Given the description of an element on the screen output the (x, y) to click on. 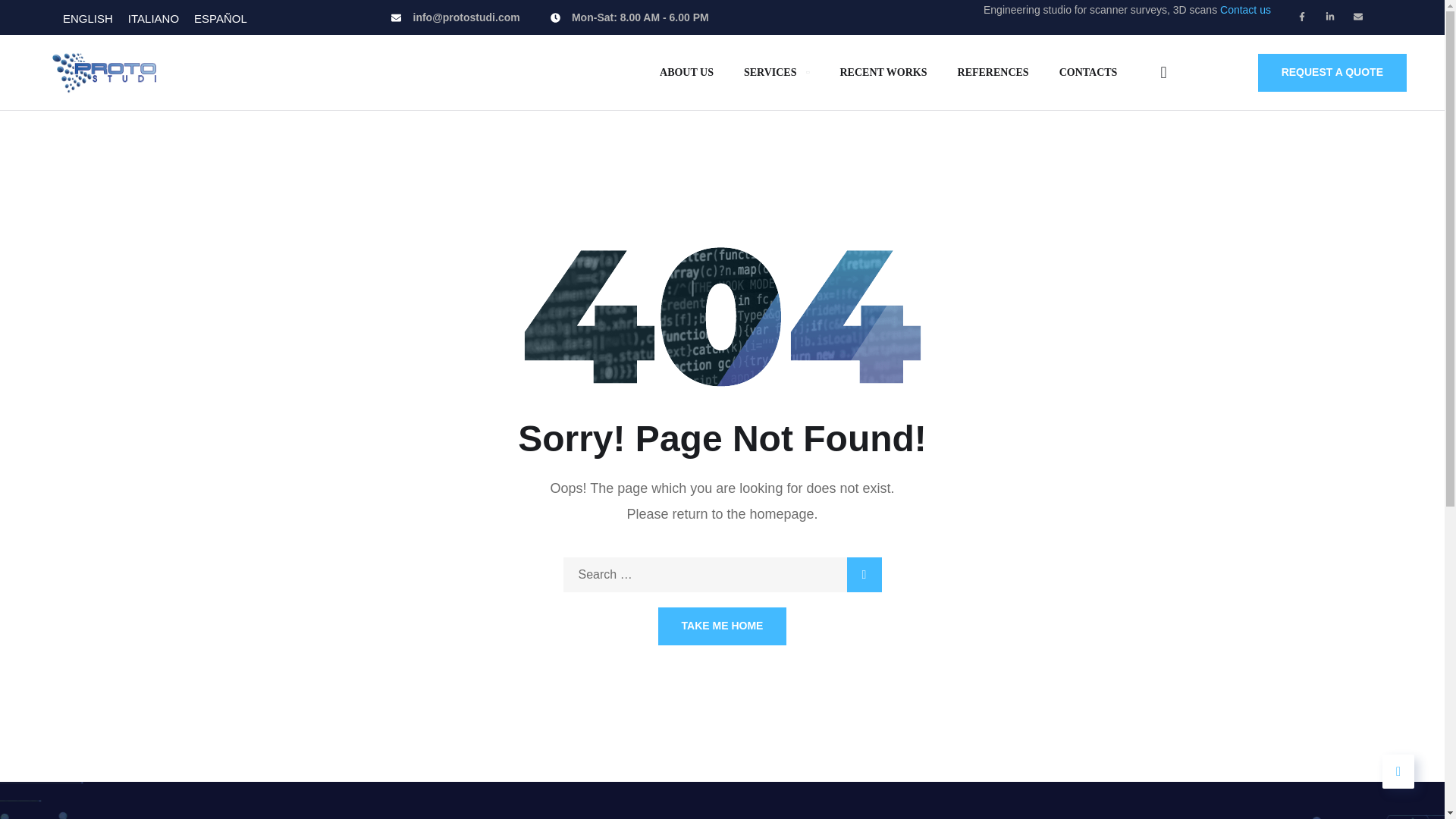
REFERENCES (993, 72)
RECENT WORKS (883, 72)
REQUEST A QUOTE (1331, 72)
ENGLISH (87, 17)
ITALIANO (153, 17)
Contact us (1245, 9)
